Given the description of an element on the screen output the (x, y) to click on. 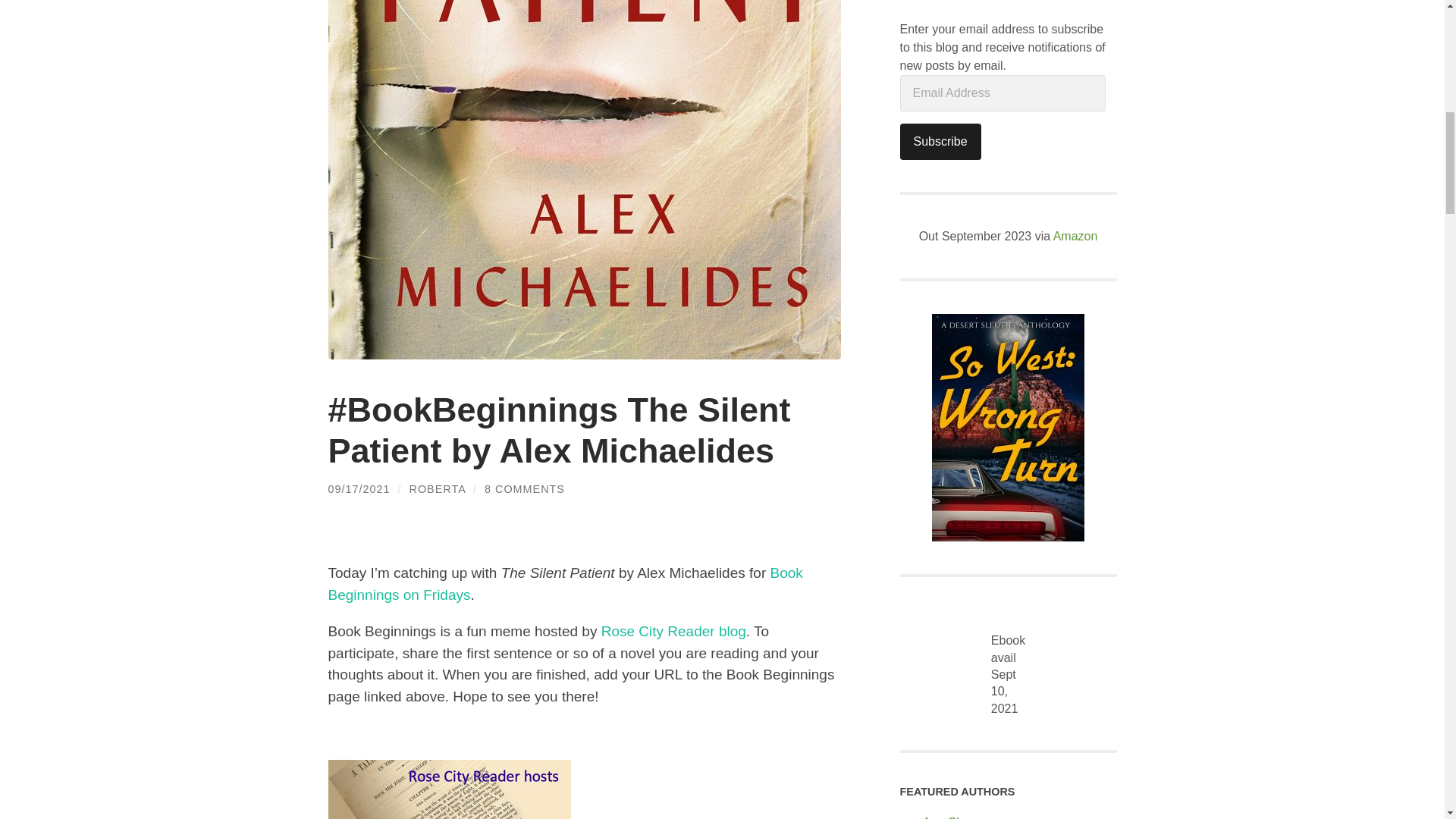
Book Beginnings on Fridays (564, 583)
ROBERTA (437, 489)
Posts by Roberta (437, 489)
Rose City Reader blog (673, 631)
8 COMMENTS (524, 489)
